Given the description of an element on the screen output the (x, y) to click on. 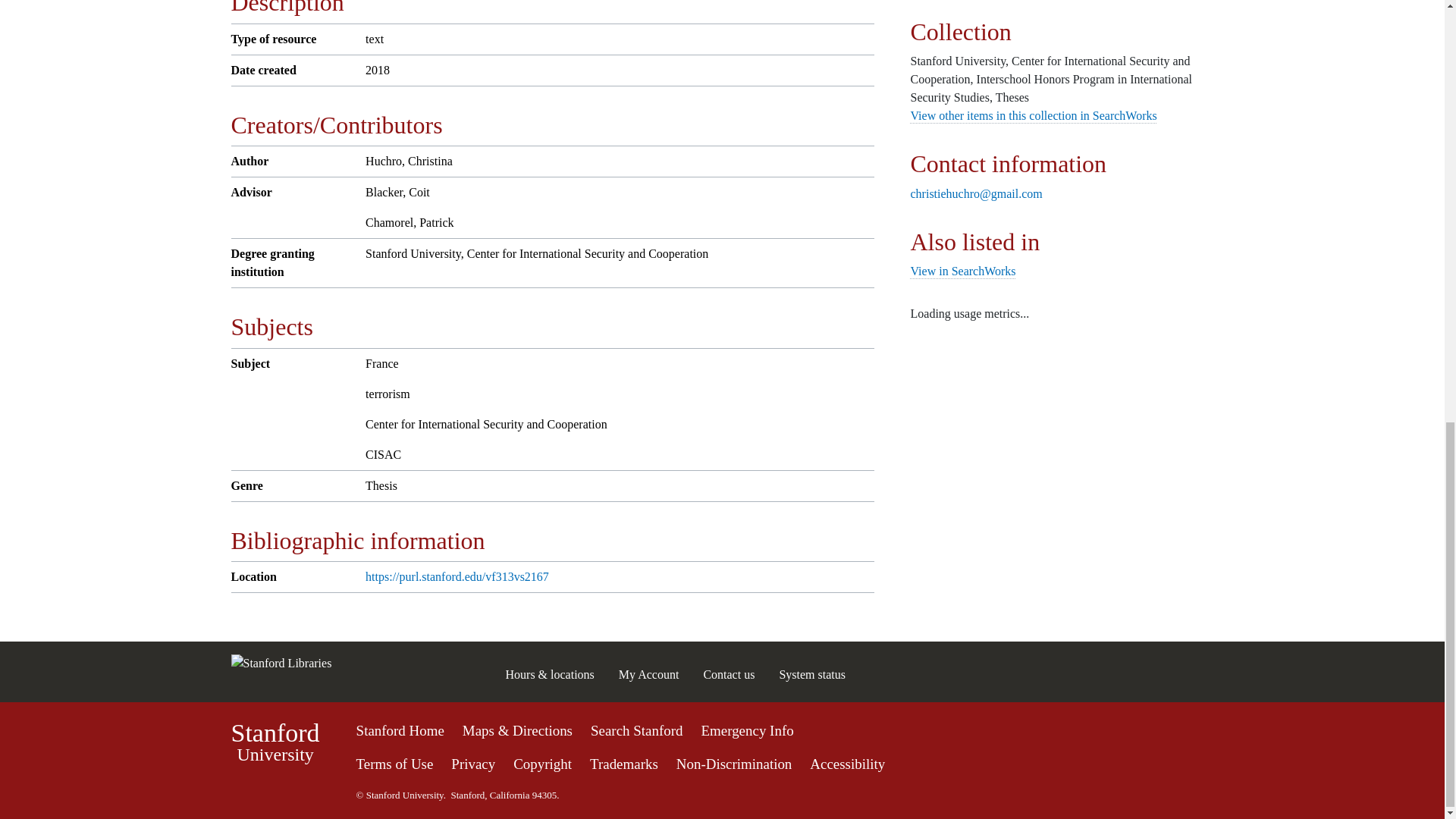
Report web accessibility issues (847, 763)
Common Stanford resources (722, 761)
My Account (648, 674)
View in SearchWorks (962, 270)
Report alleged copyright infringement (542, 763)
View other items in this collection in SearchWorks (274, 742)
Ownership and use of Stanford trademarks and images (1033, 115)
System status (623, 763)
Non-discrimination policy (811, 674)
Terms of use for sites (734, 763)
Privacy and cookie policy (394, 763)
Contact us (473, 763)
